Given the description of an element on the screen output the (x, y) to click on. 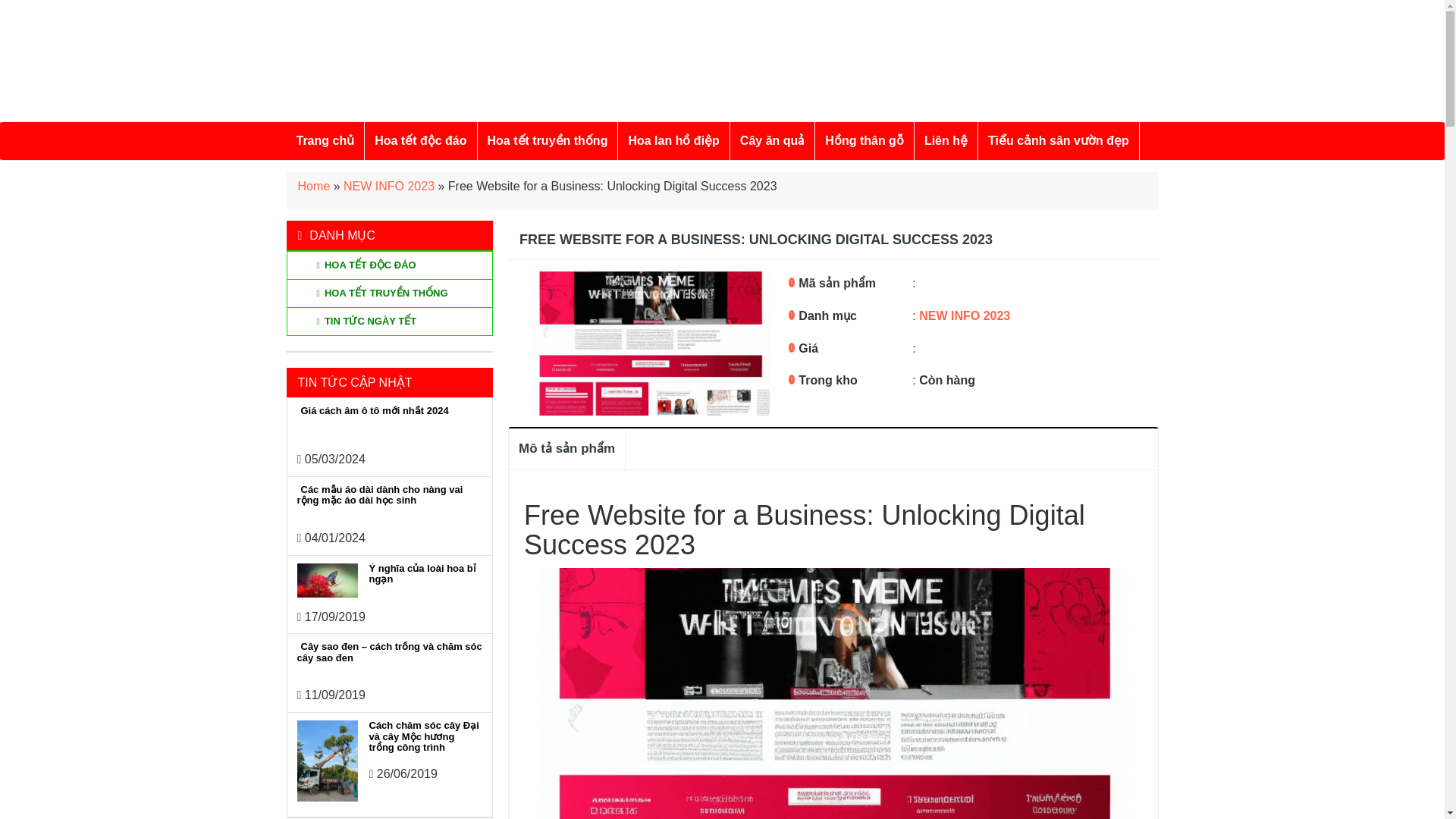
NEW INFO 2023 (388, 185)
NEW INFO 2023 (964, 315)
NEW INFO 2023 (388, 185)
Home (313, 185)
